Given the description of an element on the screen output the (x, y) to click on. 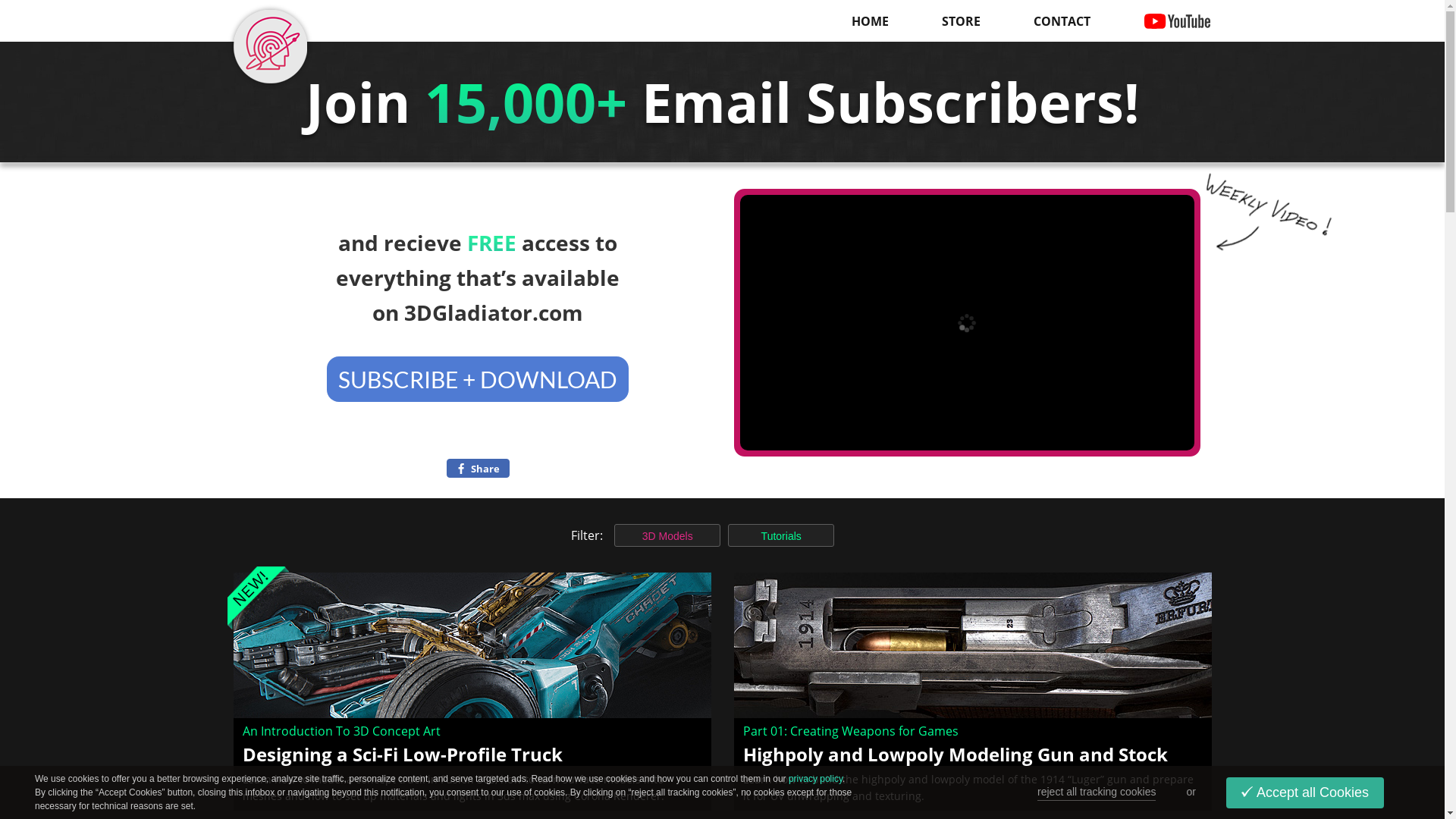
YOUTUBE Element type: text (1177, 20)
HOME Element type: text (869, 21)
STORE Element type: text (960, 21)
CONTACT Element type: text (1060, 21)
SUBSCRIBE + DOWNLOAD Element type: text (477, 378)
Share  Element type: text (476, 467)
3D Models Element type: text (667, 535)
Tutorials Element type: text (781, 535)
privacy policy Element type: text (815, 778)
